Given the description of an element on the screen output the (x, y) to click on. 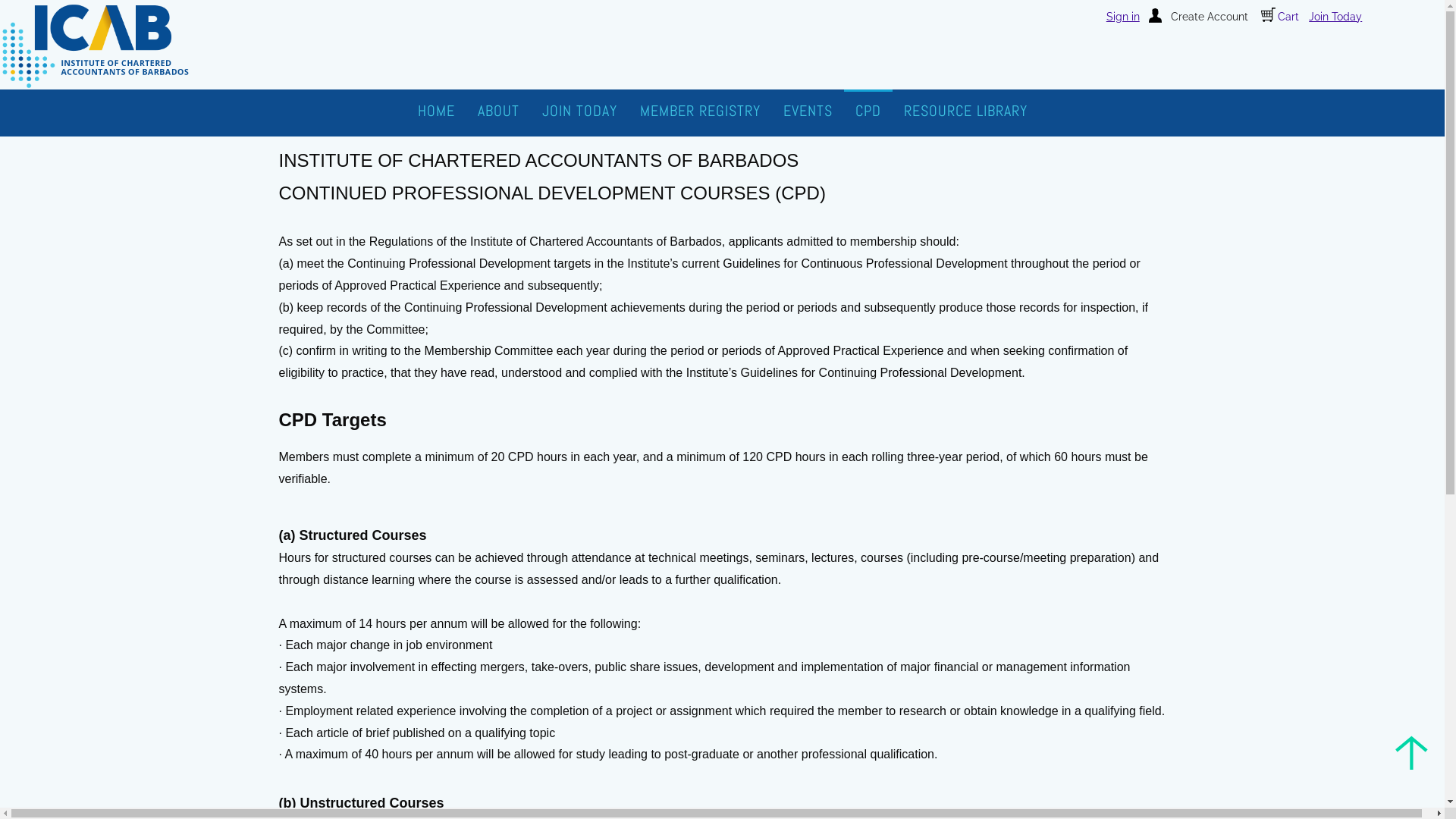
ABOUT Element type: text (497, 109)
Cart Element type: text (1279, 17)
Sign in Element type: text (1122, 16)
RESOURCE LIBRARY Element type: text (964, 109)
HOME Element type: text (436, 109)
Back to top of page Element type: text (1412, 752)
MEMBER REGISTRY Element type: text (699, 109)
Create Account Element type: text (1197, 16)
JOIN TODAY Element type: text (579, 109)
Join Today Element type: text (1335, 16)
EVENTS Element type: text (807, 109)
CPD Element type: text (867, 109)
